Given the description of an element on the screen output the (x, y) to click on. 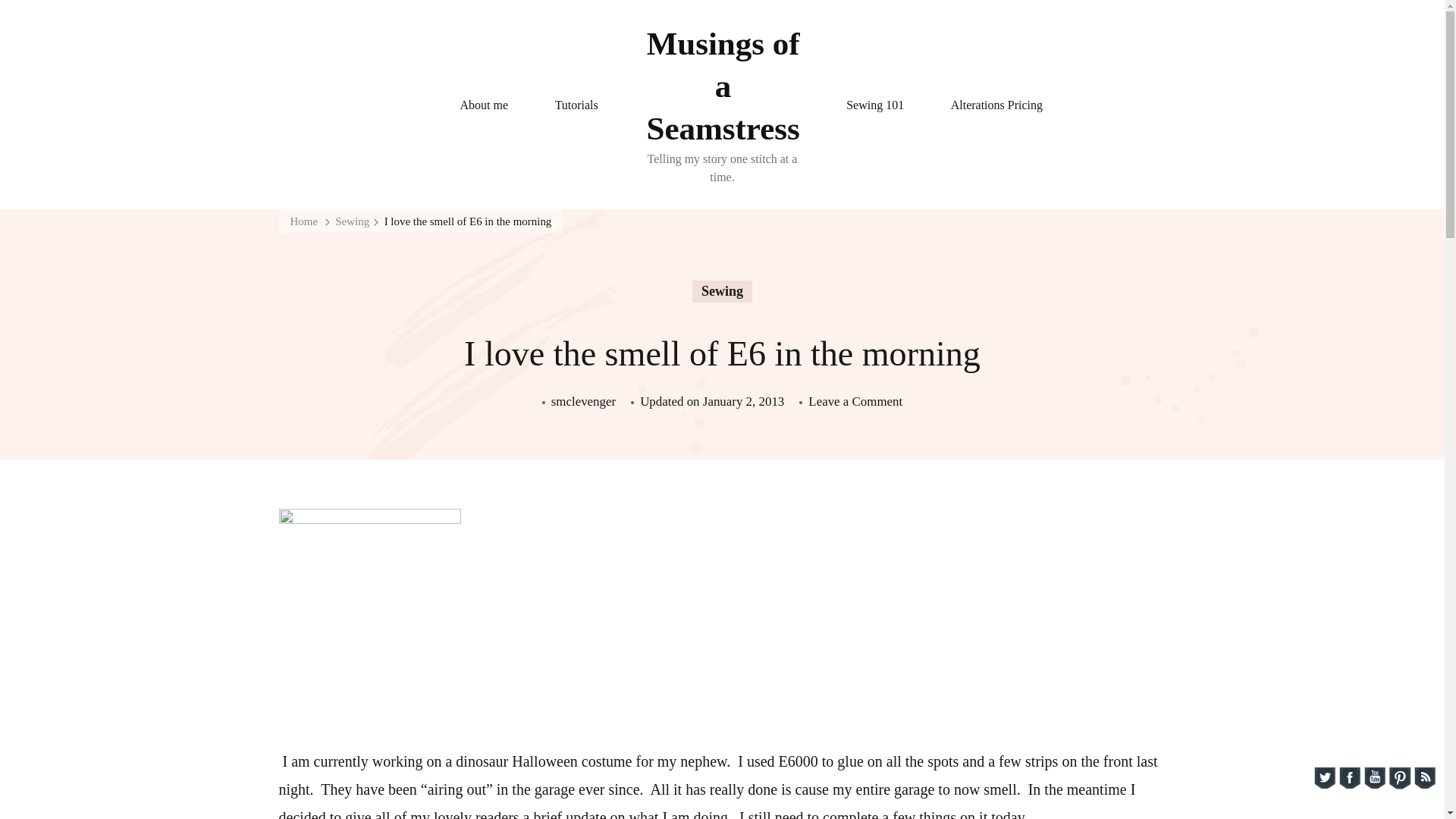
Sewing (855, 401)
Sewing (722, 291)
Visit Us On Facebook (351, 221)
Check Our Feed (1348, 777)
Sewing 101 (1424, 777)
Alterations Pricing (874, 105)
Home (996, 105)
smclevenger (303, 221)
Visit Us On Twitter (583, 401)
Musings of a Seamstress (1323, 777)
About me (722, 85)
January 2, 2013 (484, 105)
I love the smell of E6 in the morning (743, 401)
Visit Us On Pinterest (467, 221)
